Given the description of an element on the screen output the (x, y) to click on. 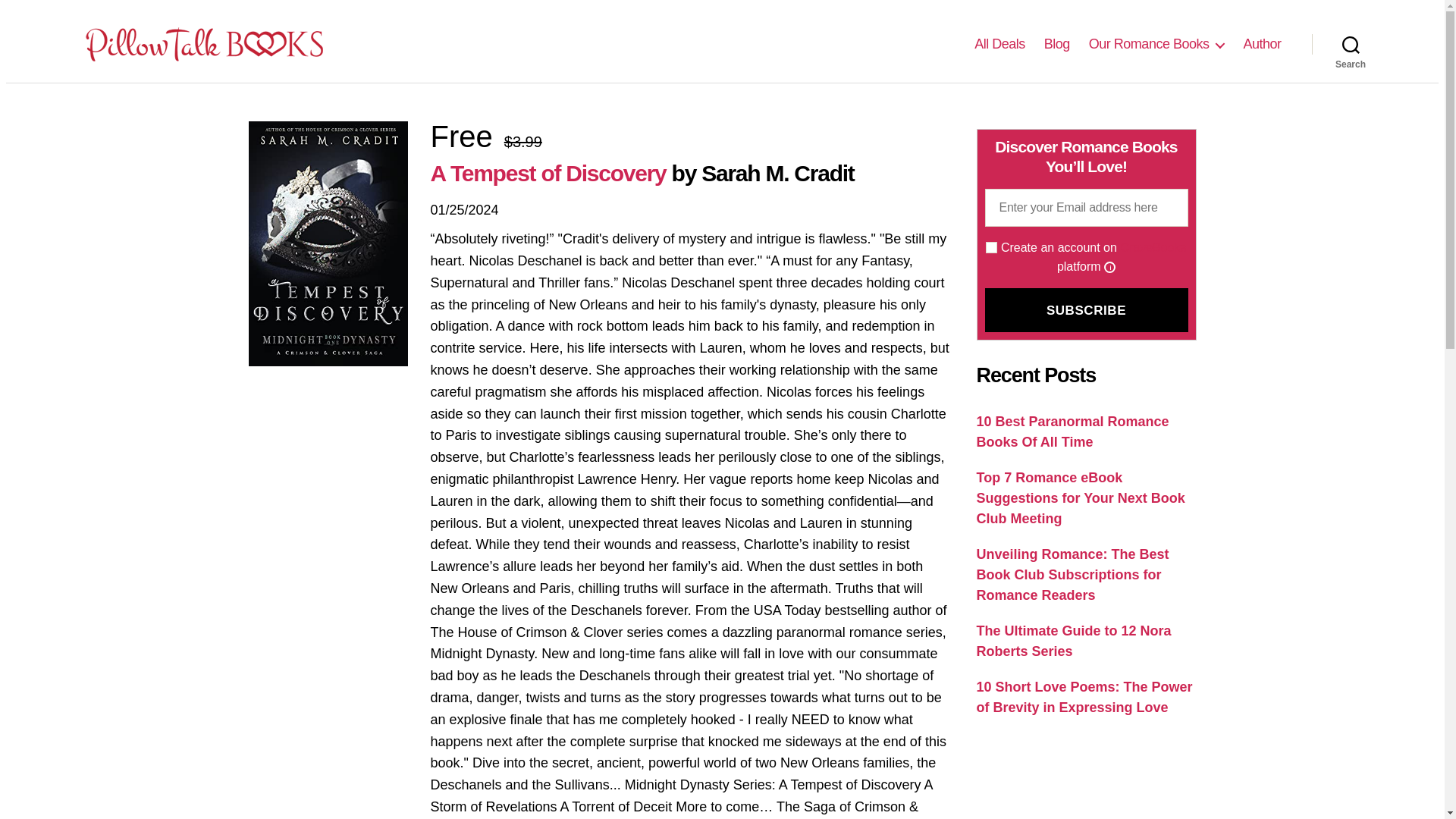
All Deals (999, 44)
Advertisement (1086, 780)
Our Romance Books (1156, 44)
true (991, 247)
Subscribe (1086, 310)
Author (1262, 44)
Blog (1056, 44)
Search (1350, 43)
